Given the description of an element on the screen output the (x, y) to click on. 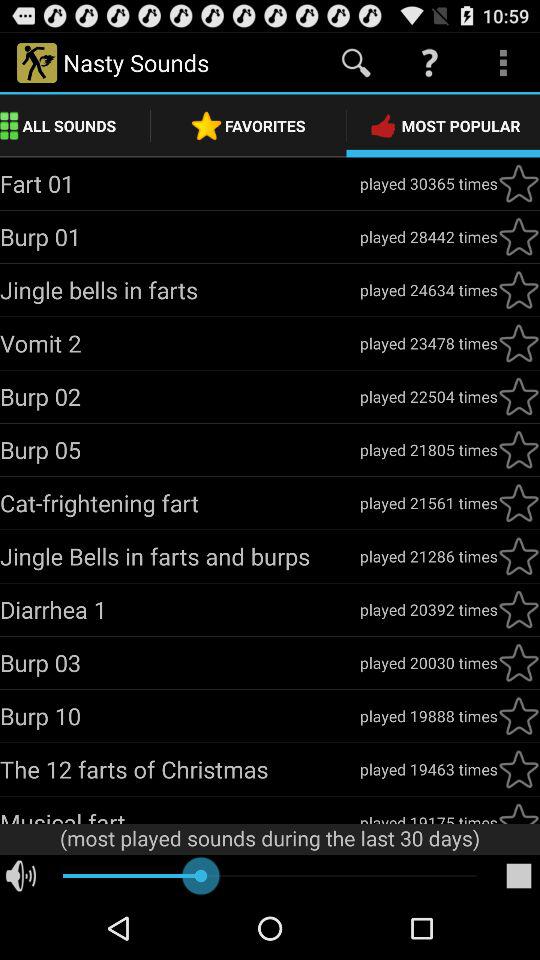
like button (519, 769)
